Given the description of an element on the screen output the (x, y) to click on. 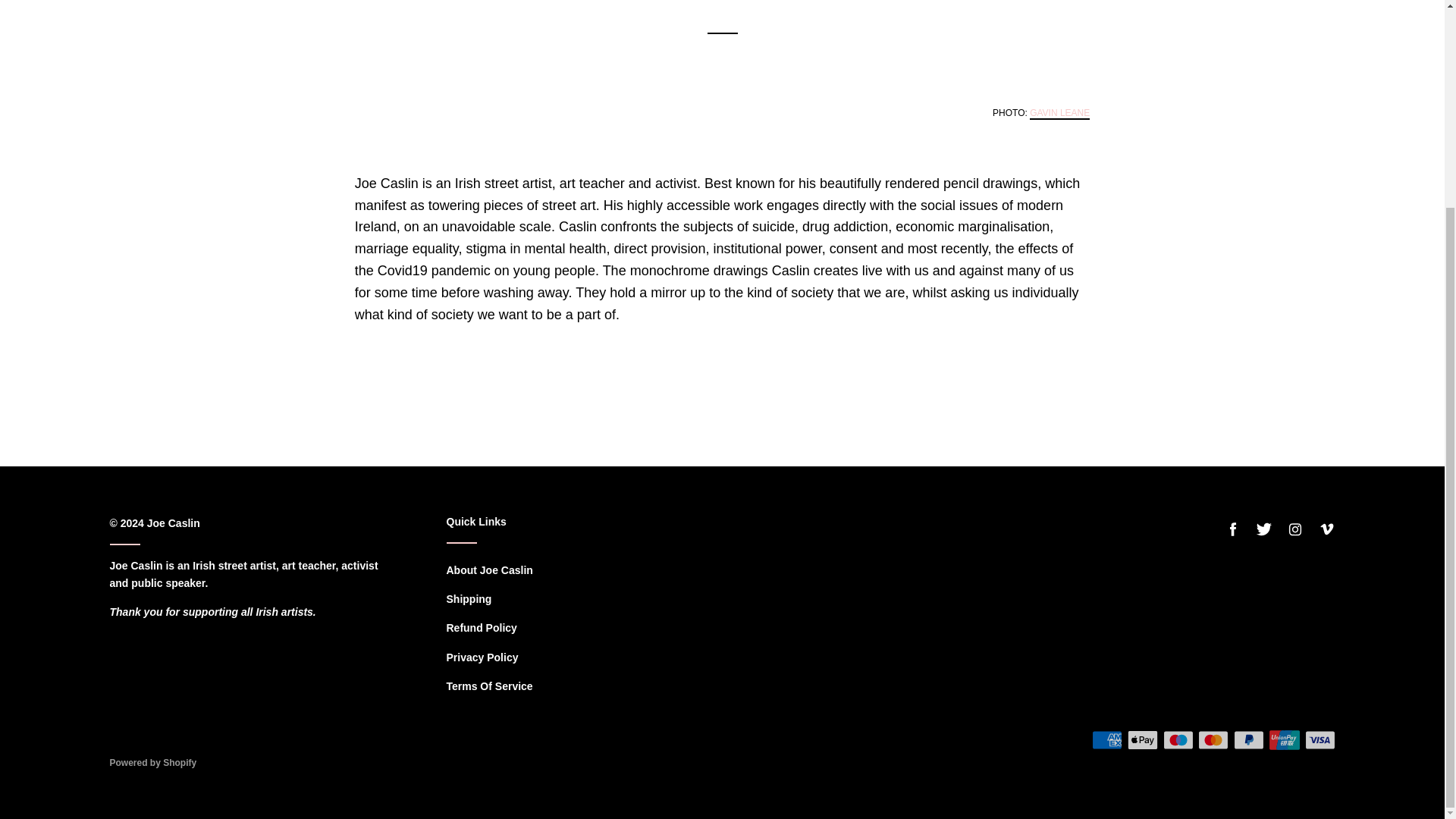
Joe Caslin on Facebook (1232, 529)
Visa (1319, 739)
American Express (1107, 739)
Mastercard (1213, 739)
Maestro (1178, 739)
Joe Caslin on Vimeo (1326, 529)
Joe Caslin on Instagram (1295, 529)
PayPal (1248, 739)
Joe Caslin on Twitter (1263, 529)
Union Pay (1284, 739)
Apple Pay (1141, 739)
